Given the description of an element on the screen output the (x, y) to click on. 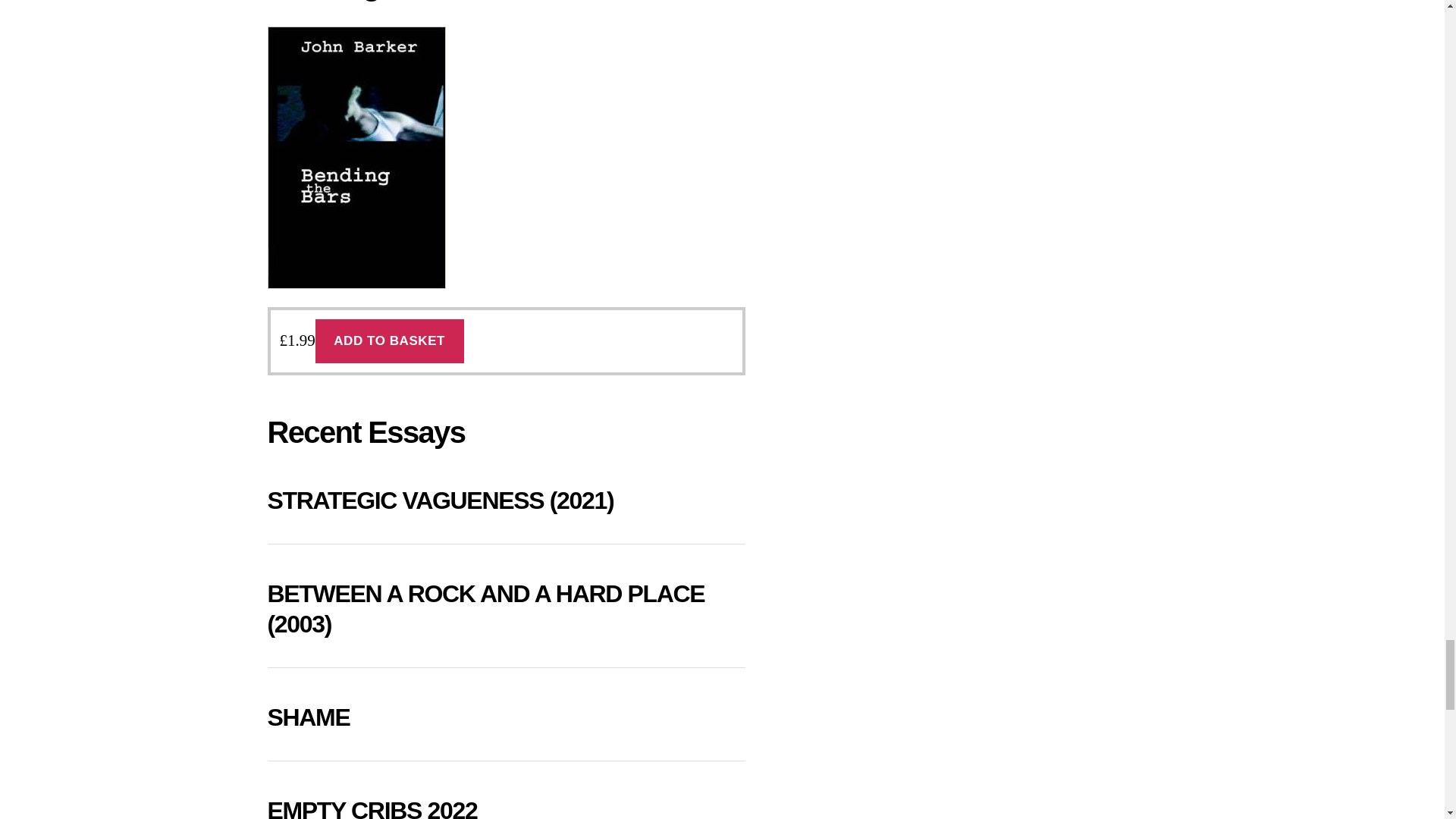
EMPTY CRIBS 2022 (371, 807)
SHAME (307, 717)
ADD TO BASKET (389, 341)
